Given the description of an element on the screen output the (x, y) to click on. 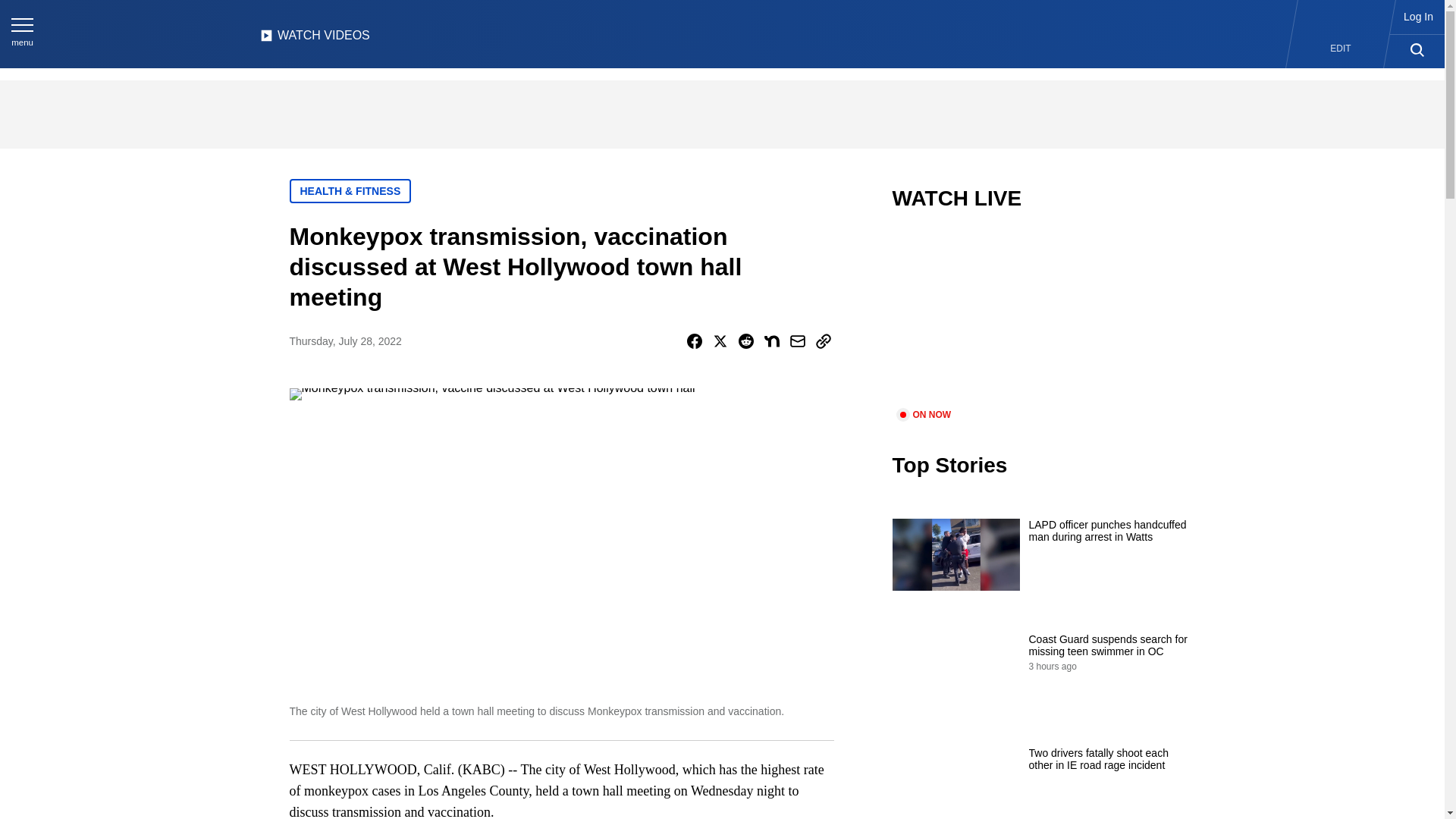
EDIT (1340, 48)
WATCH VIDEOS (314, 39)
video.title (1043, 318)
